Given the description of an element on the screen output the (x, y) to click on. 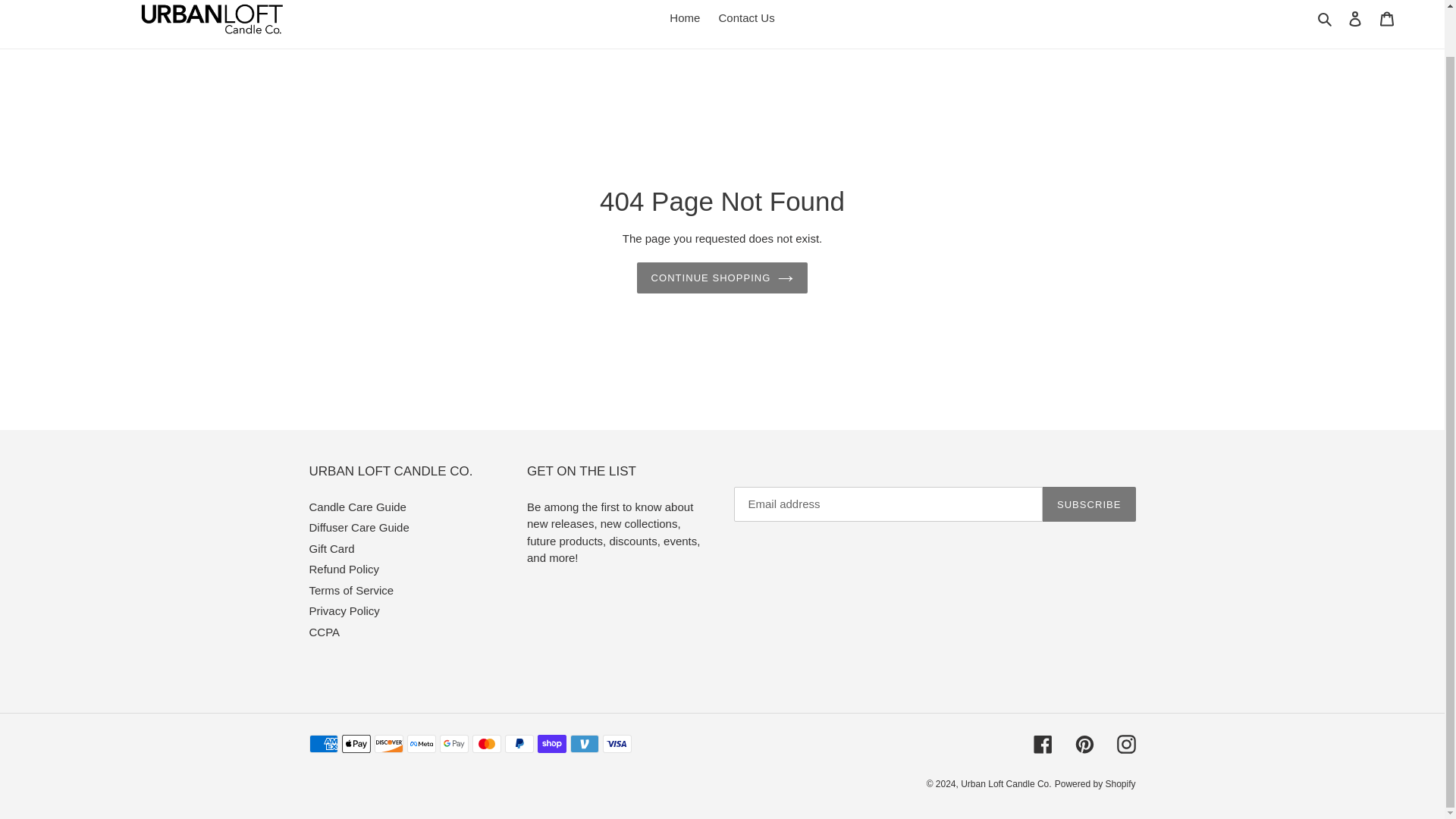
Contact Us (745, 18)
Urban Loft Candle Co. (1005, 783)
Facebook (1041, 743)
SUBSCRIBE (1088, 503)
Powered by Shopify (1094, 783)
Candle Care Guide (357, 506)
Pinterest (1084, 743)
Privacy Policy (344, 610)
Refund Policy (344, 568)
Gift Card (331, 548)
Log in (1355, 18)
Instagram (1125, 743)
CCPA (324, 631)
Terms of Service (351, 590)
CONTINUE SHOPPING (722, 278)
